Given the description of an element on the screen output the (x, y) to click on. 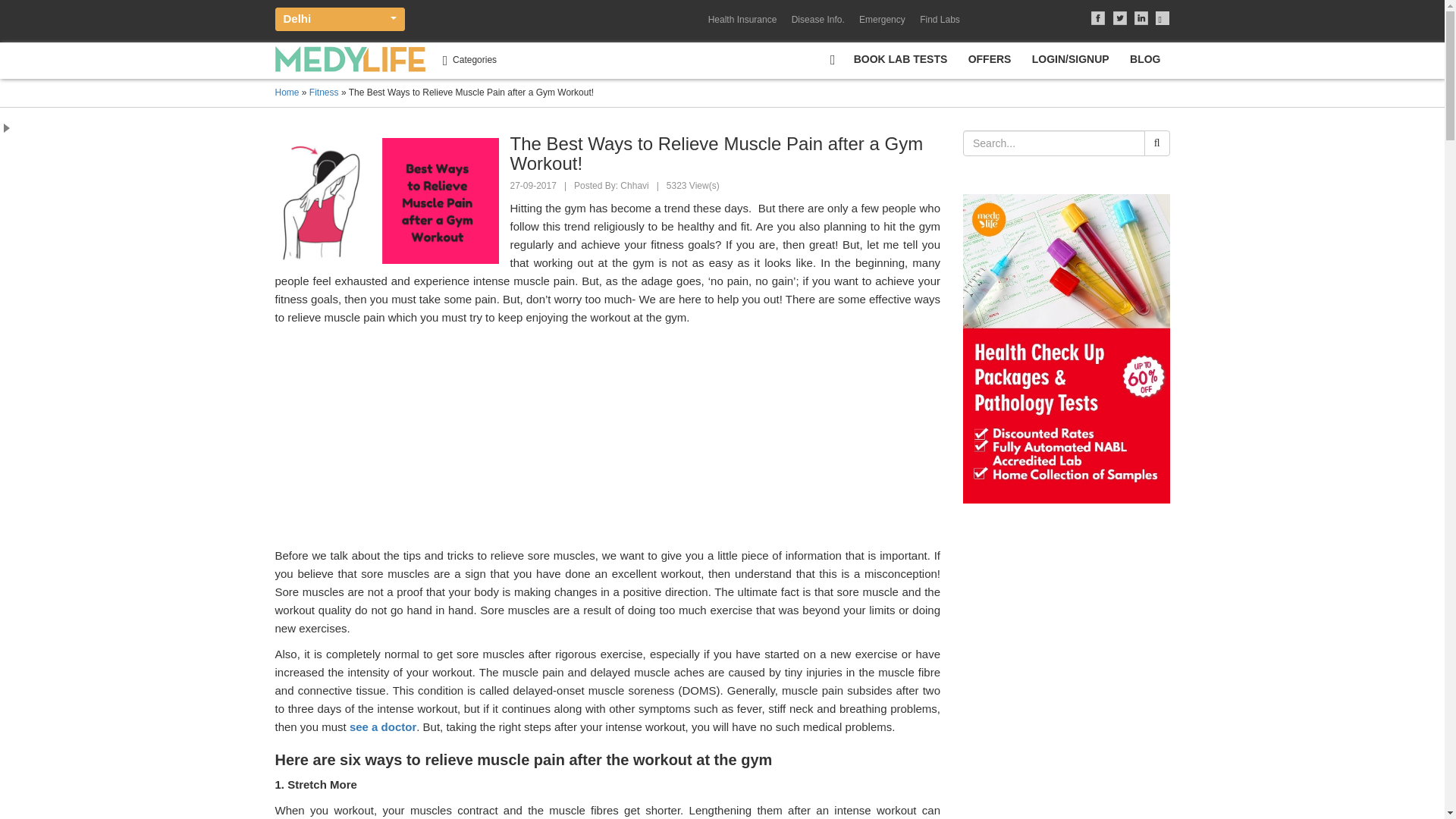
Health Insurance (745, 19)
Delhi (339, 19)
 Categories (469, 59)
Disease Info. (818, 19)
Emergency (882, 19)
Find Labs (940, 19)
